Given the description of an element on the screen output the (x, y) to click on. 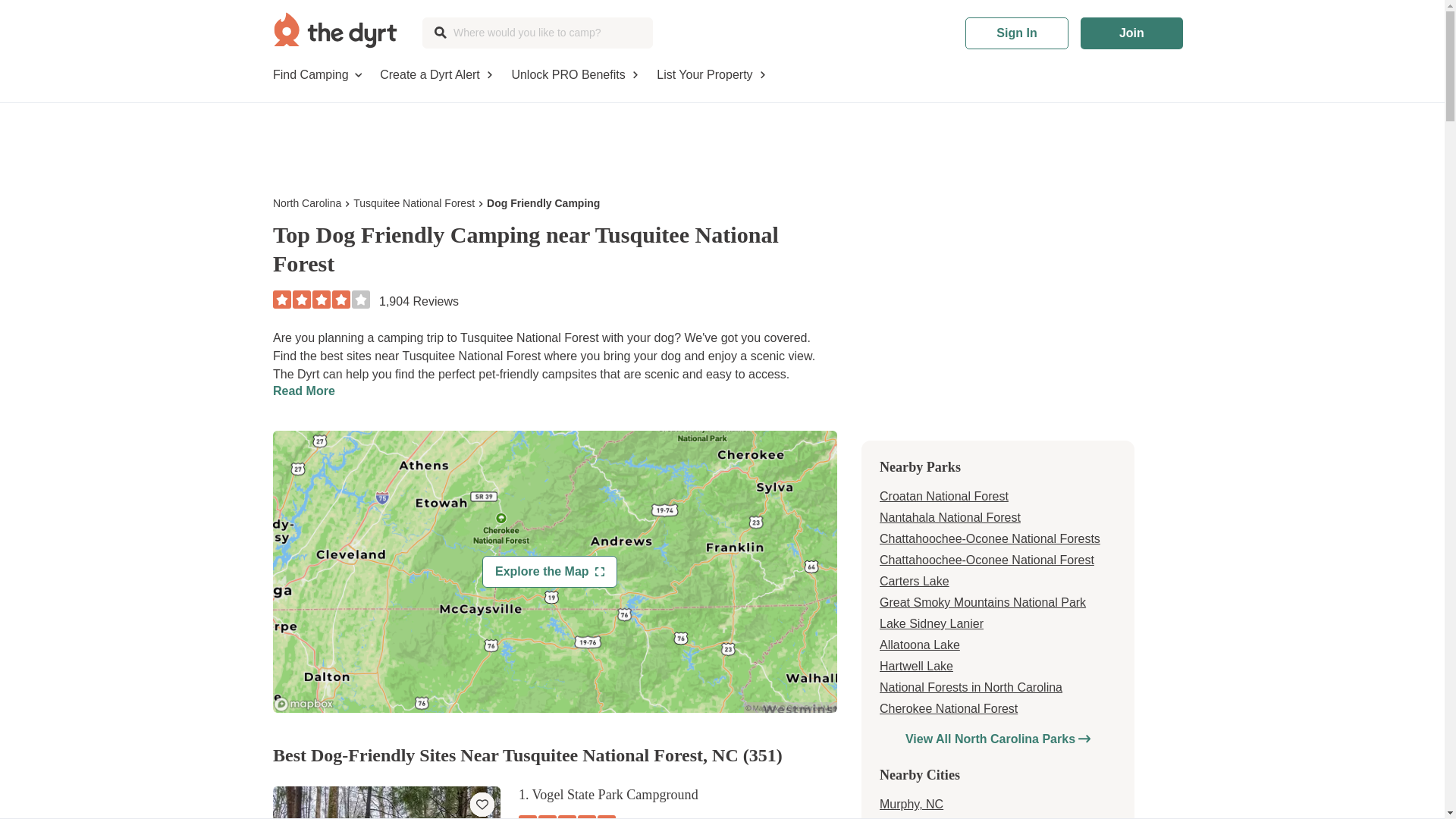
3rd party ad content (997, 315)
3rd party ad content (727, 137)
